Given the description of an element on the screen output the (x, y) to click on. 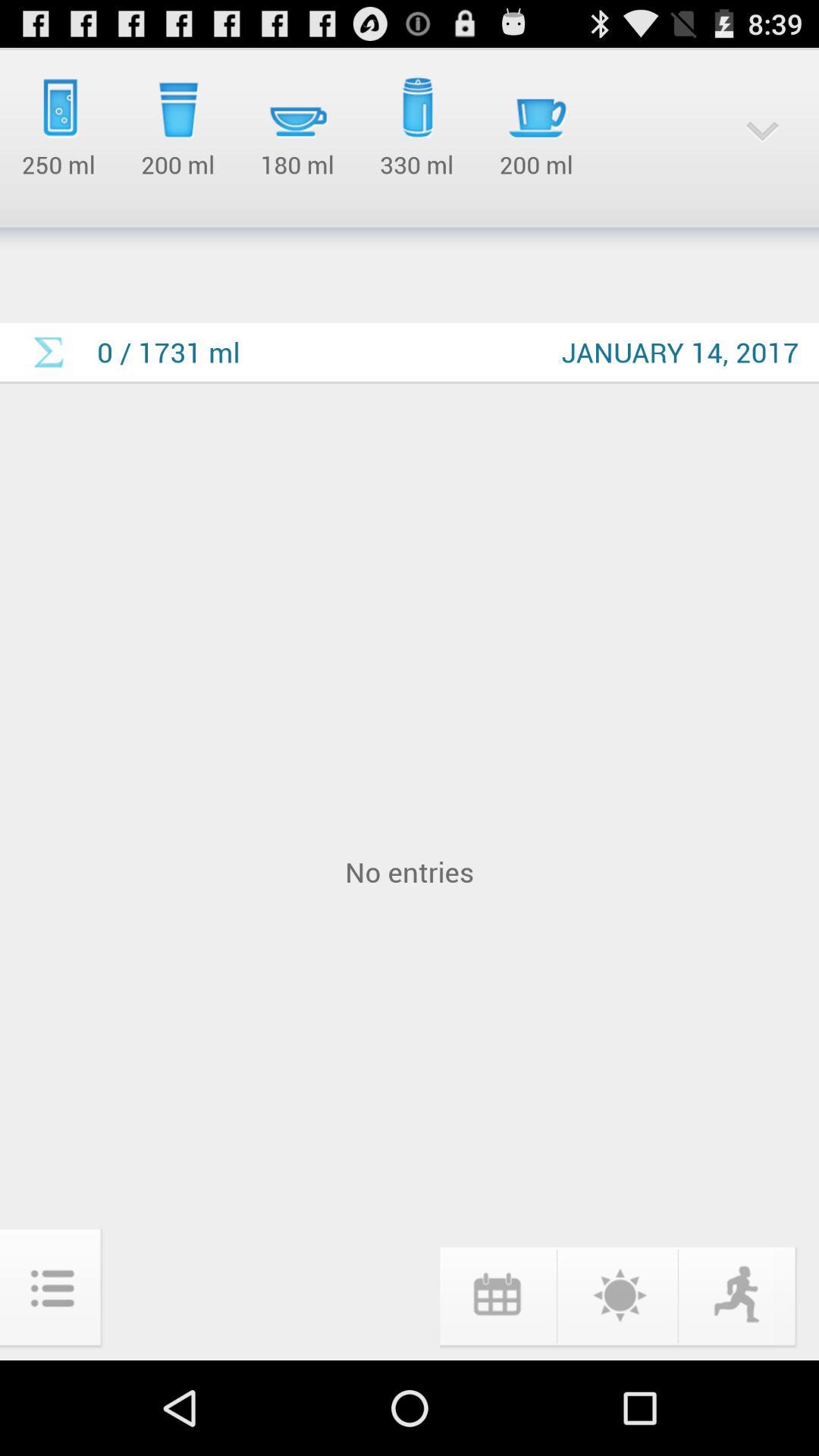
select the dropdown icon at top right corner (761, 131)
click on the sun symbol beside calendar symbol (617, 1294)
click on the icon with the symbol calendar (496, 1294)
